Given the description of an element on the screen output the (x, y) to click on. 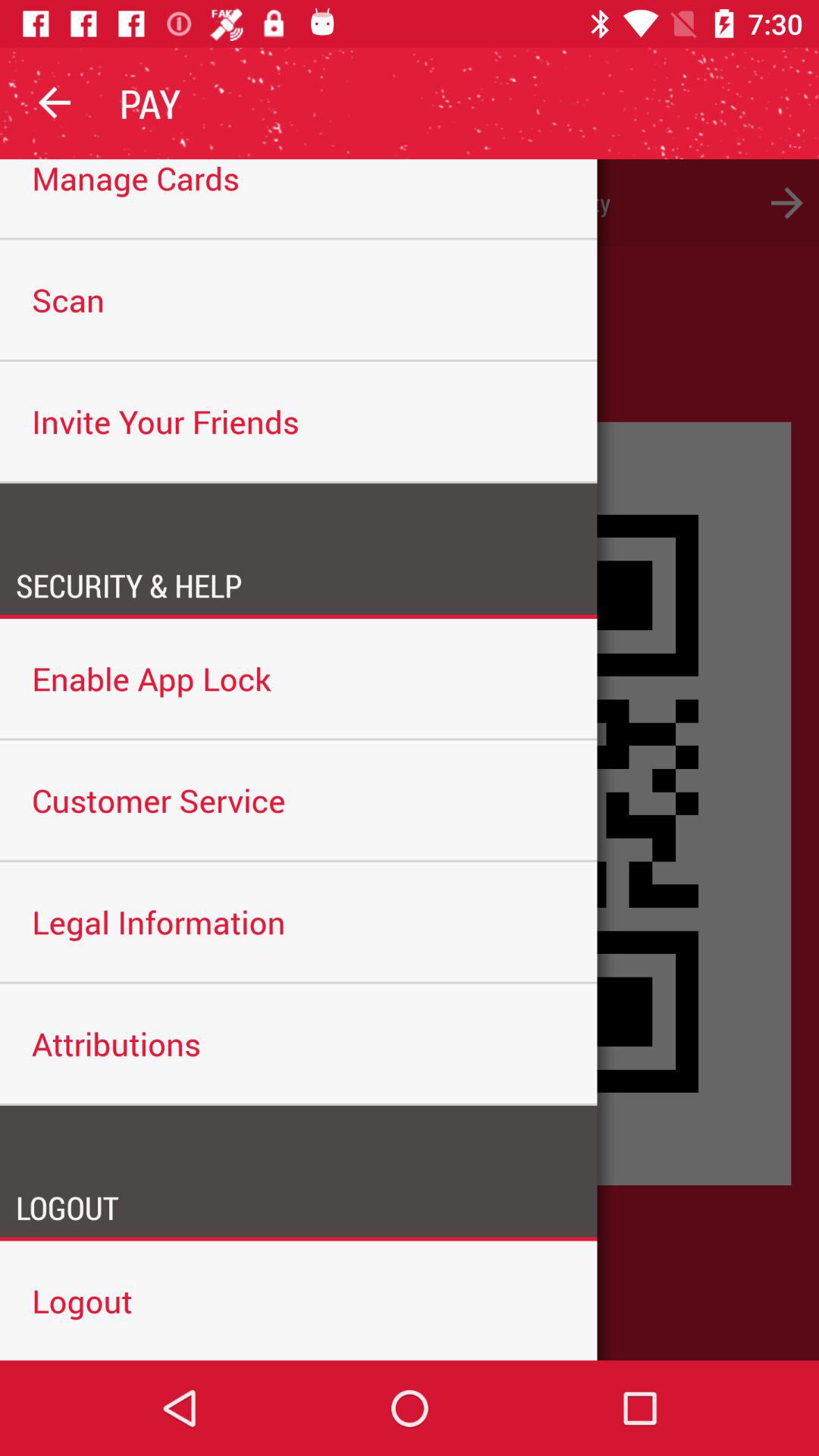
open scan item (298, 299)
